Given the description of an element on the screen output the (x, y) to click on. 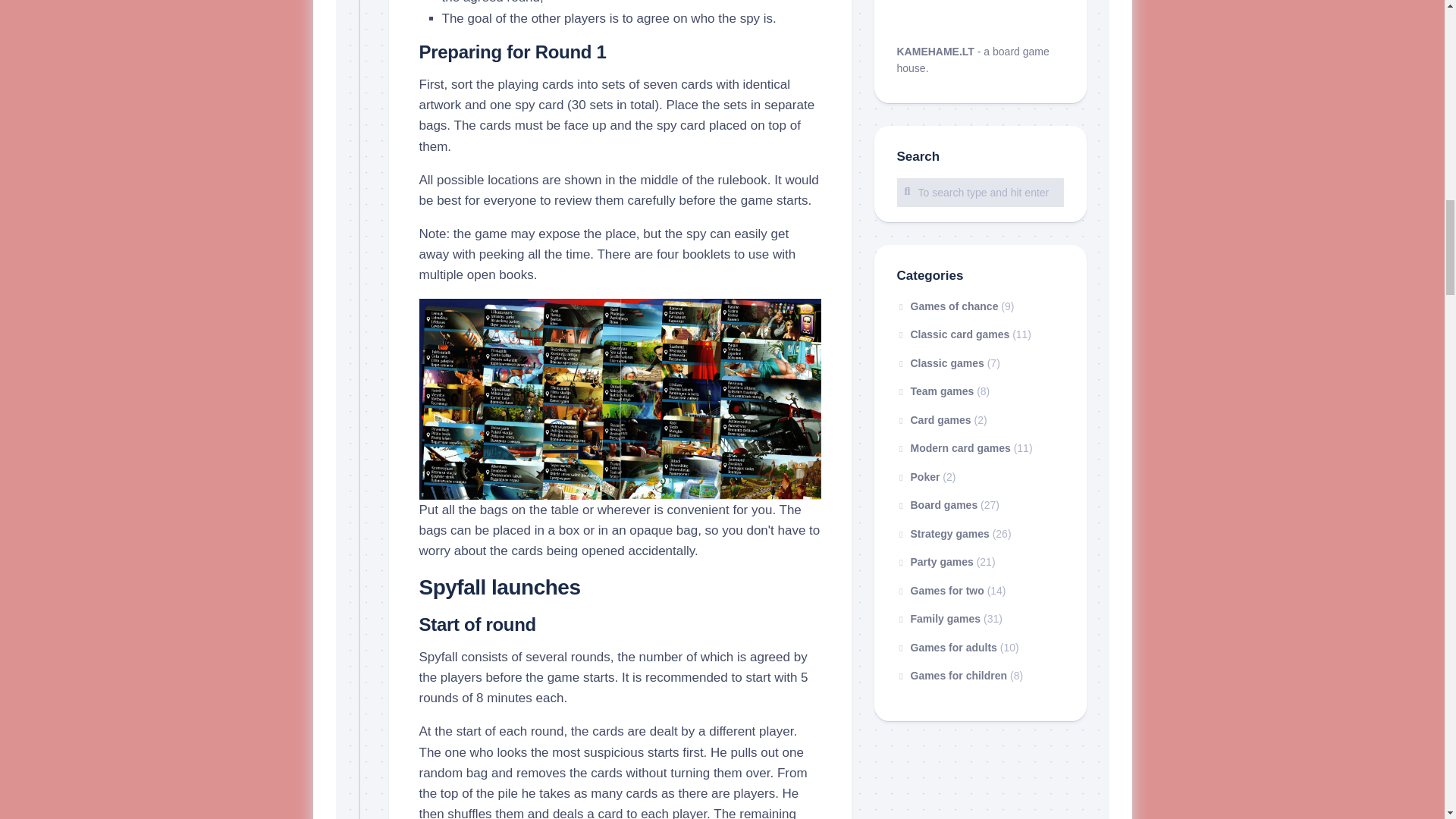
To search type and hit enter (979, 192)
To search type and hit enter (979, 192)
